Given the description of an element on the screen output the (x, y) to click on. 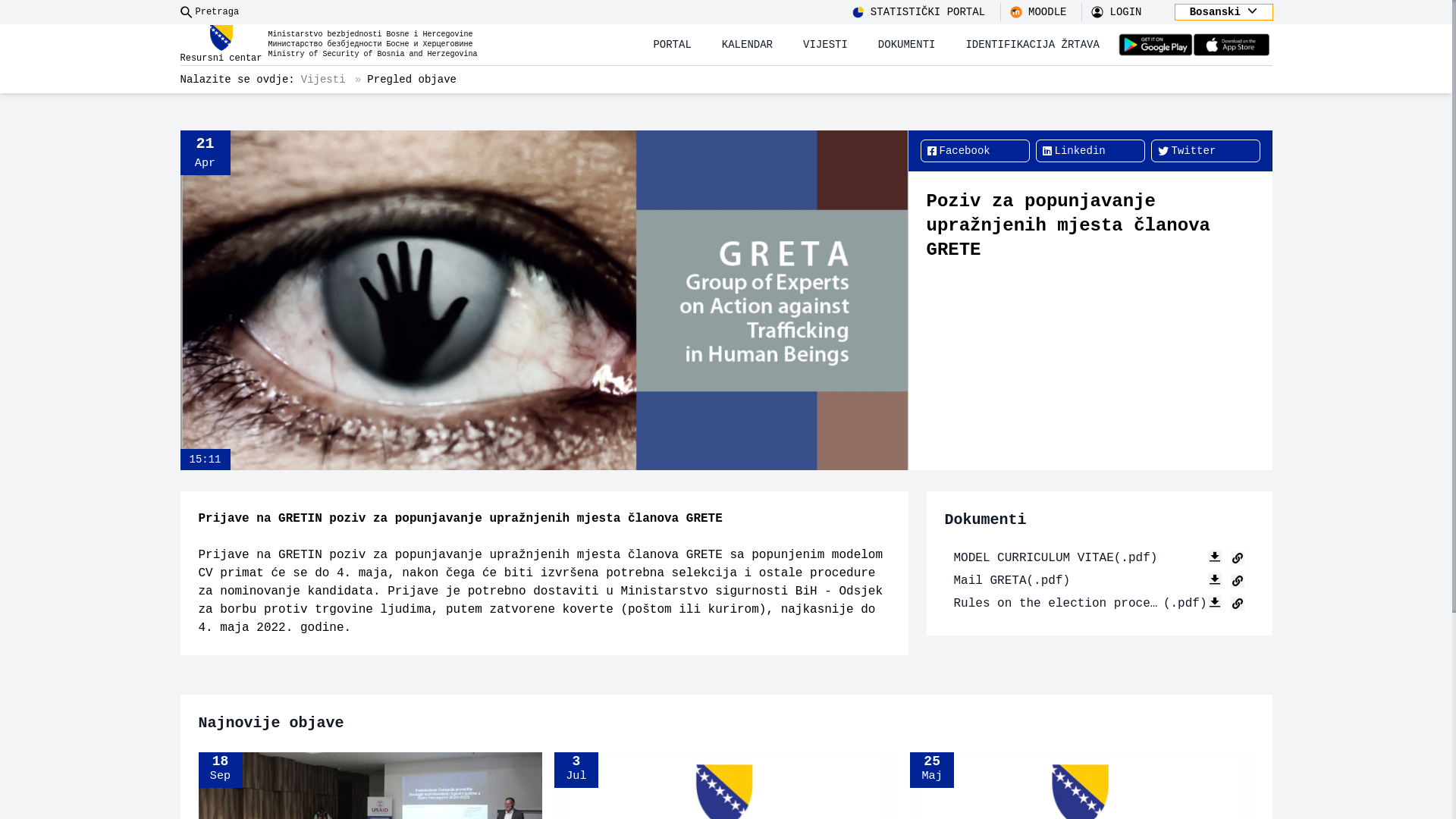
Linkedin Element type: text (1090, 150)
KALENDAR Element type: text (746, 44)
VIJESTI Element type: text (824, 44)
Facebook Element type: text (974, 150)
MOODLE Element type: text (1041, 12)
PORTAL Element type: text (671, 44)
Pregled objave Element type: text (411, 79)
DOKUMENTI Element type: text (906, 44)
Twitter Element type: text (1205, 150)
LOGIN Element type: text (1119, 12)
Vijesti Element type: text (323, 79)
